Given the description of an element on the screen output the (x, y) to click on. 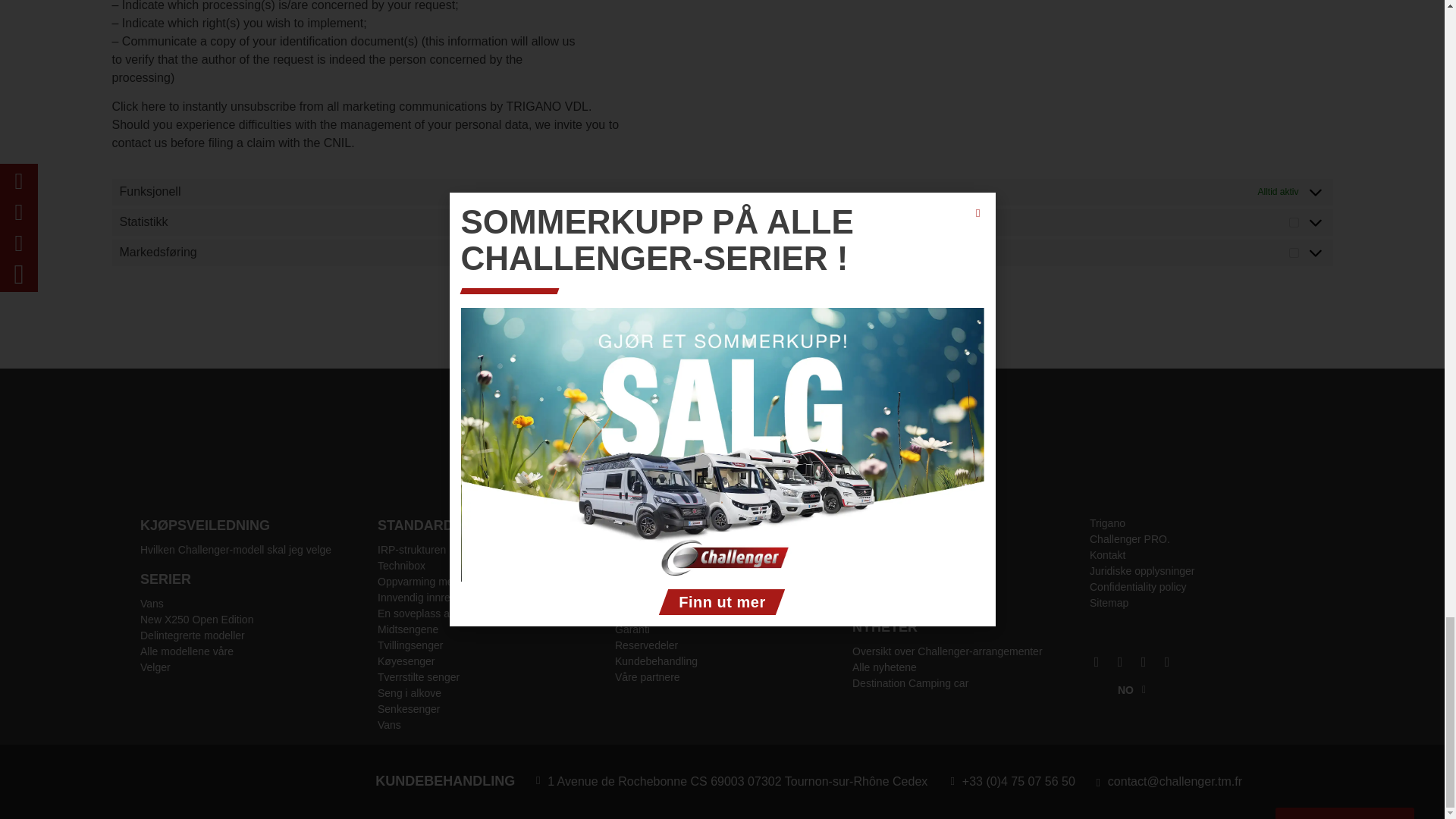
1 (1293, 222)
1 (1293, 252)
